Given the description of an element on the screen output the (x, y) to click on. 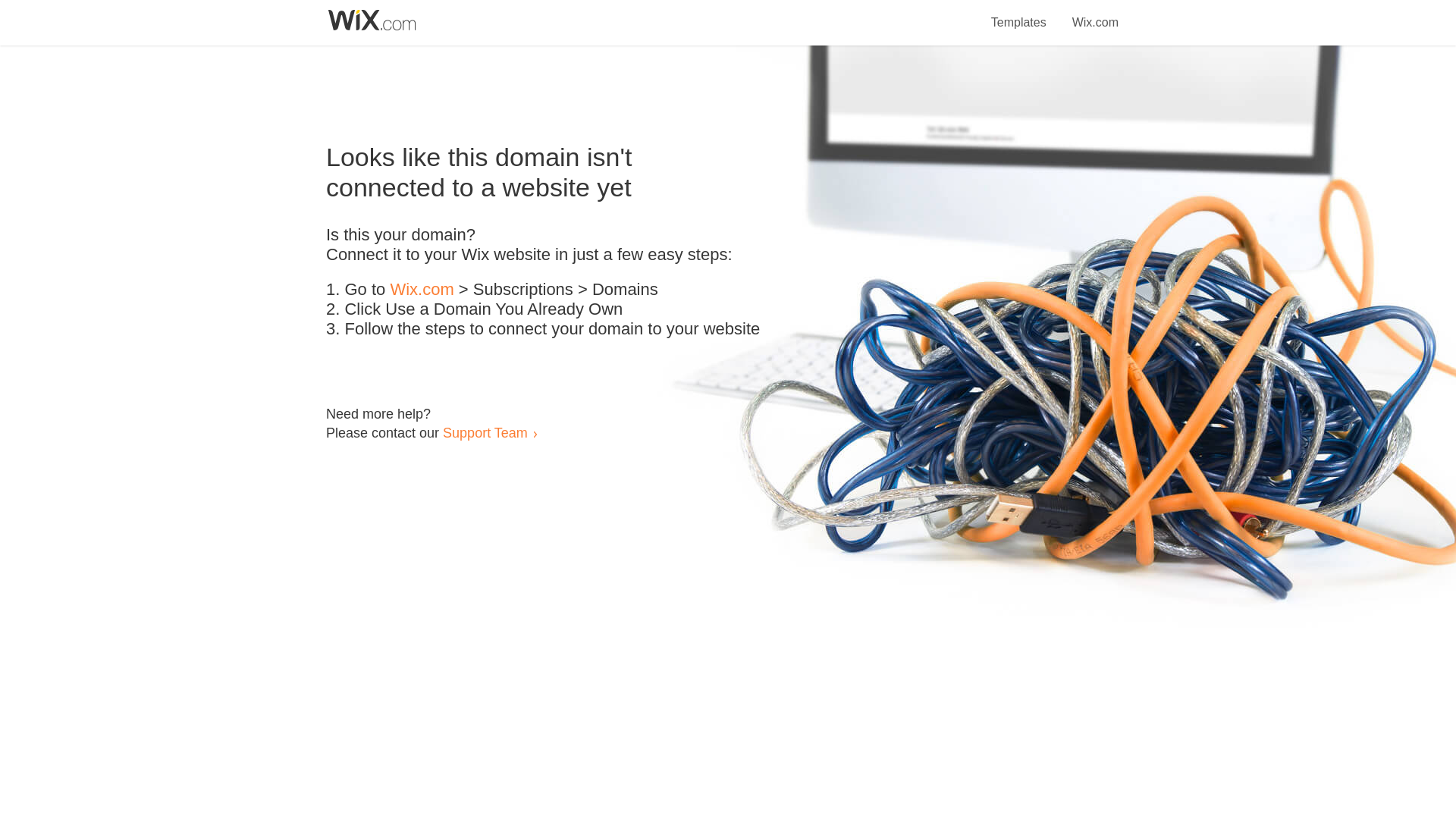
Templates (1018, 14)
Wix.com (421, 289)
Wix.com (1095, 14)
Support Team (484, 432)
